Given the description of an element on the screen output the (x, y) to click on. 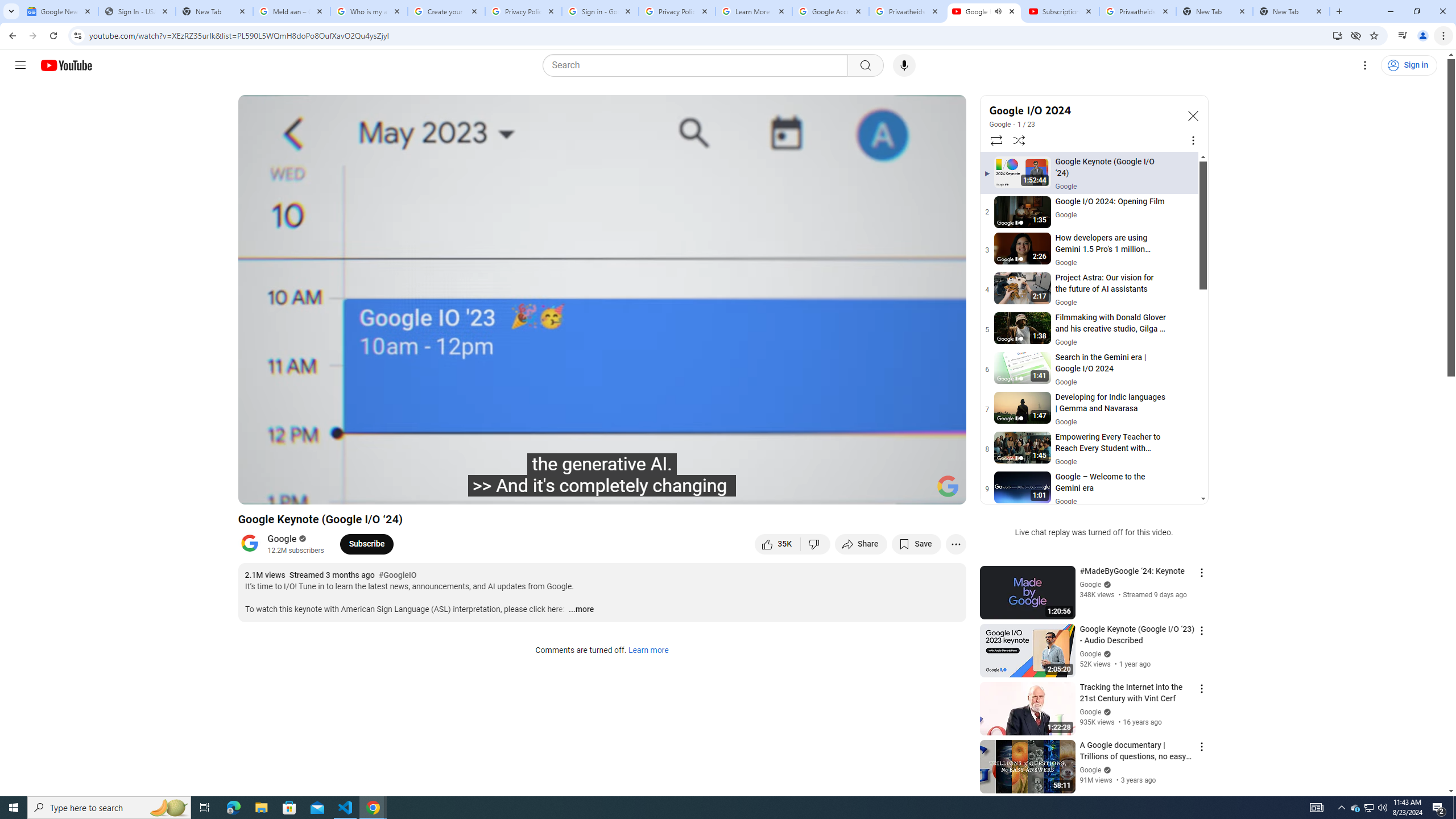
Guide (20, 65)
Subscribe to Google. (366, 543)
YouTube Home (66, 65)
Sign in - Google Accounts (599, 11)
Play (k) (285, 490)
Shuffle playlist (1018, 140)
Who is my administrator? - Google Account Help (368, 11)
Settings (1365, 65)
